Given the description of an element on the screen output the (x, y) to click on. 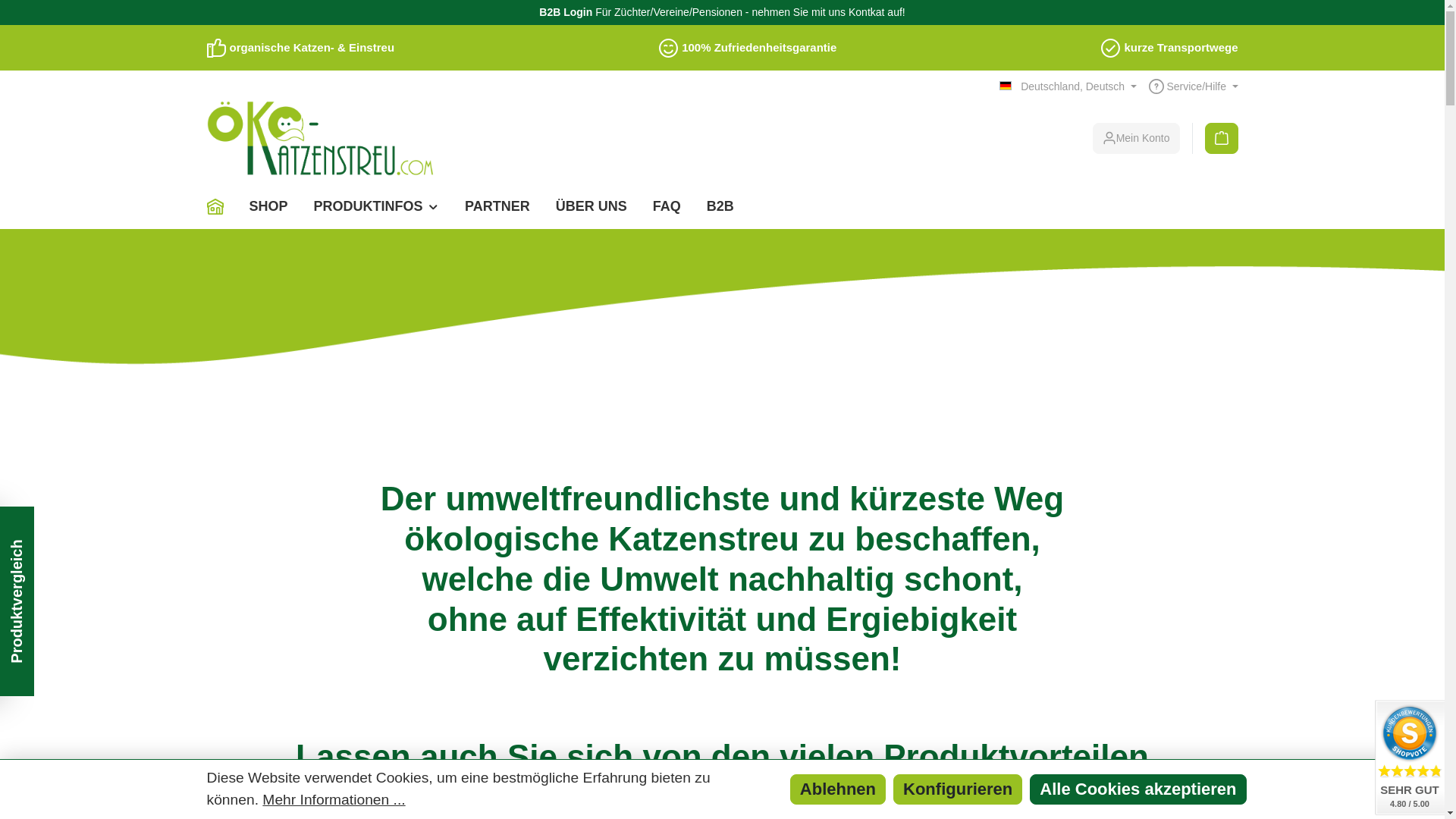
PRODUKTINFOS Element type: text (376, 206)
SHOP Element type: text (268, 206)
Home Element type: hover (220, 206)
PARTNER Element type: text (496, 206)
Ablehnen Element type: text (837, 789)
Mein Konto Element type: text (1135, 137)
B2B Element type: text (719, 206)
FAQ Element type: text (666, 206)
Konfigurieren Element type: text (957, 789)
Alle Cookies akzeptieren Element type: text (1137, 789)
Zur Startseite wechseln Element type: hover (319, 137)
Warenkorb Element type: hover (1221, 138)
Mehr Informationen ... Element type: text (333, 800)
Deutschland, Deutsch Element type: text (1067, 86)
Service/Hilfe Element type: text (1193, 86)
